Given the description of an element on the screen output the (x, y) to click on. 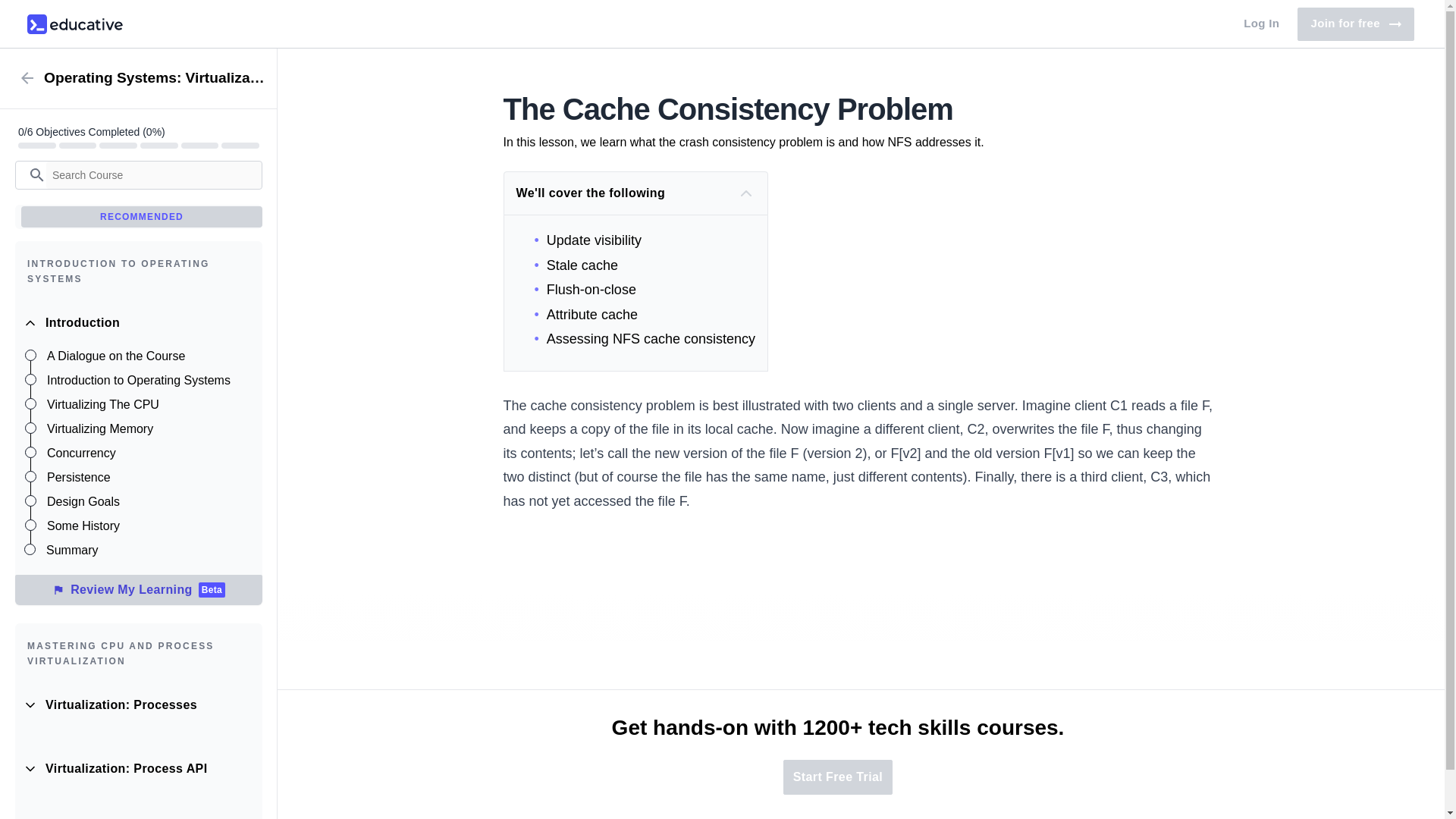
Introduction to Operating Systems (146, 381)
educative.io (74, 23)
Virtualizing The CPU (146, 405)
Summary (146, 550)
RECOMMENDED (141, 216)
Persistence (1355, 23)
A Dialogue on the Course (146, 478)
Virtualizing Memory (146, 356)
Some History (146, 429)
